Given the description of an element on the screen output the (x, y) to click on. 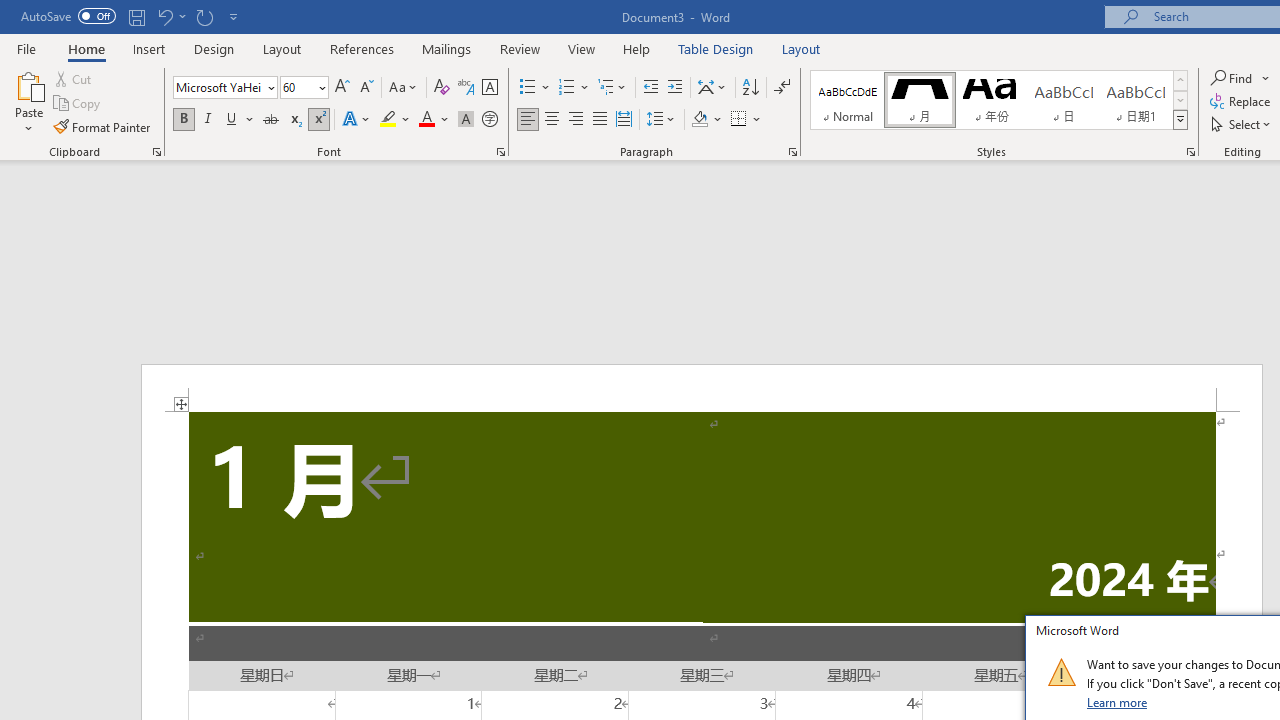
Asian Layout (712, 87)
Learn more (1118, 702)
Table Design (715, 48)
Repeat Superscript (204, 15)
Phonetic Guide... (465, 87)
Line and Paragraph Spacing (661, 119)
Undo Superscript (170, 15)
